Given the description of an element on the screen output the (x, y) to click on. 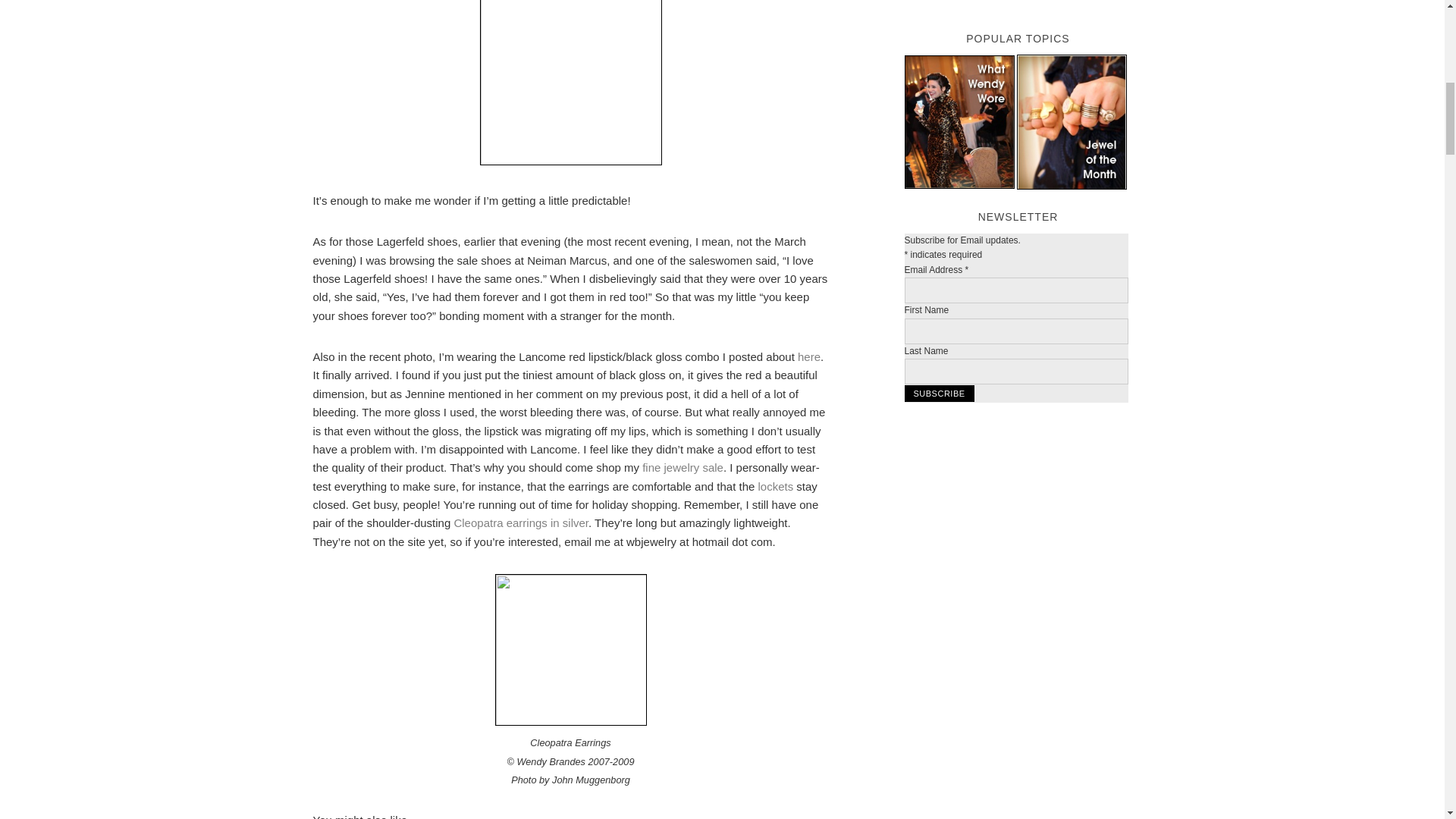
Cleopatra earrings in silver (520, 522)
Subscribe (939, 393)
fine jewelry sale (682, 467)
here (809, 356)
lockets (775, 486)
